Given the description of an element on the screen output the (x, y) to click on. 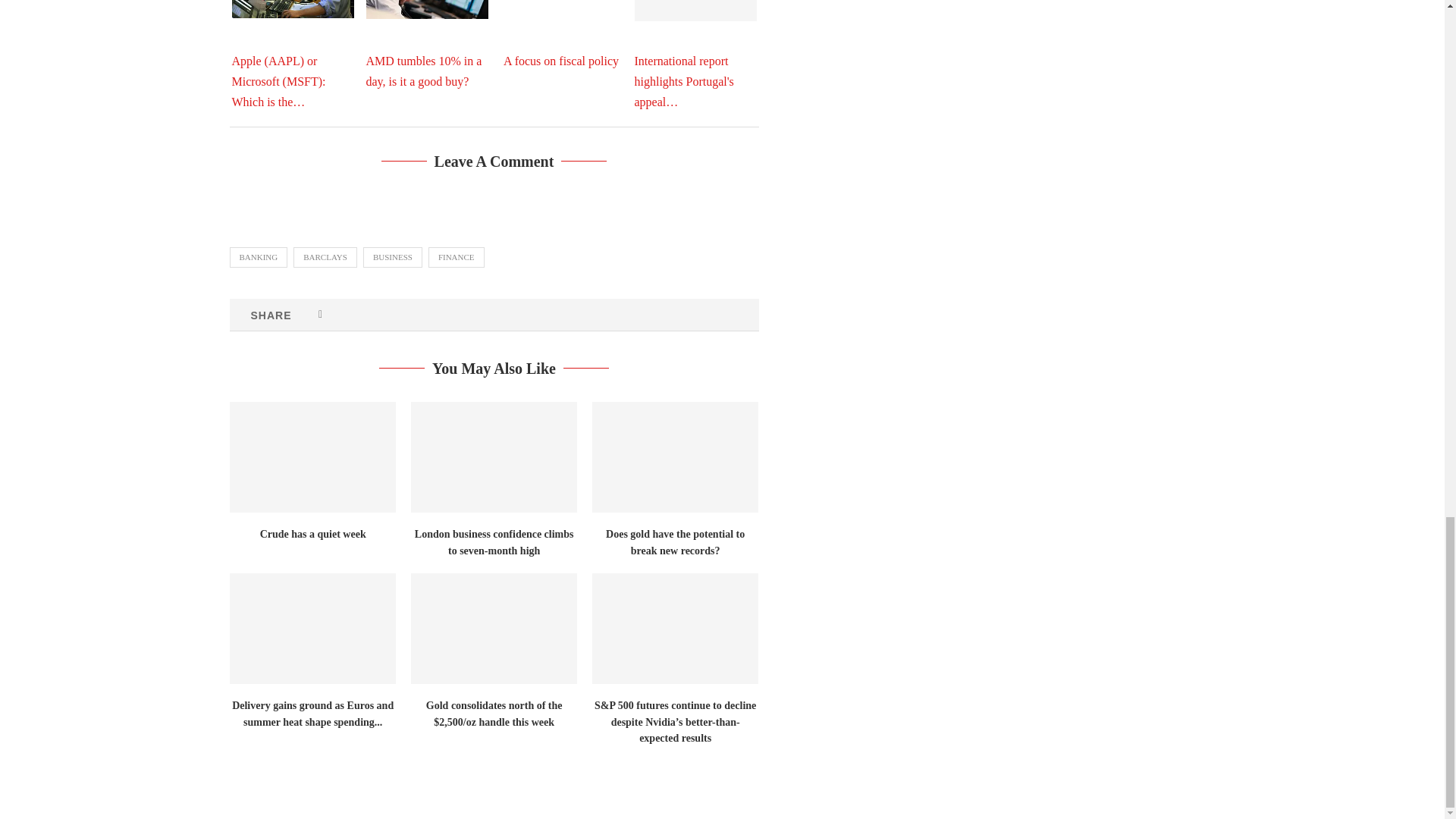
London business confidence climbs to seven-month high (493, 457)
A focus on fiscal policy (560, 44)
Does gold have the potential to break new records? (675, 457)
Crude has a quiet week (311, 457)
